Given the description of an element on the screen output the (x, y) to click on. 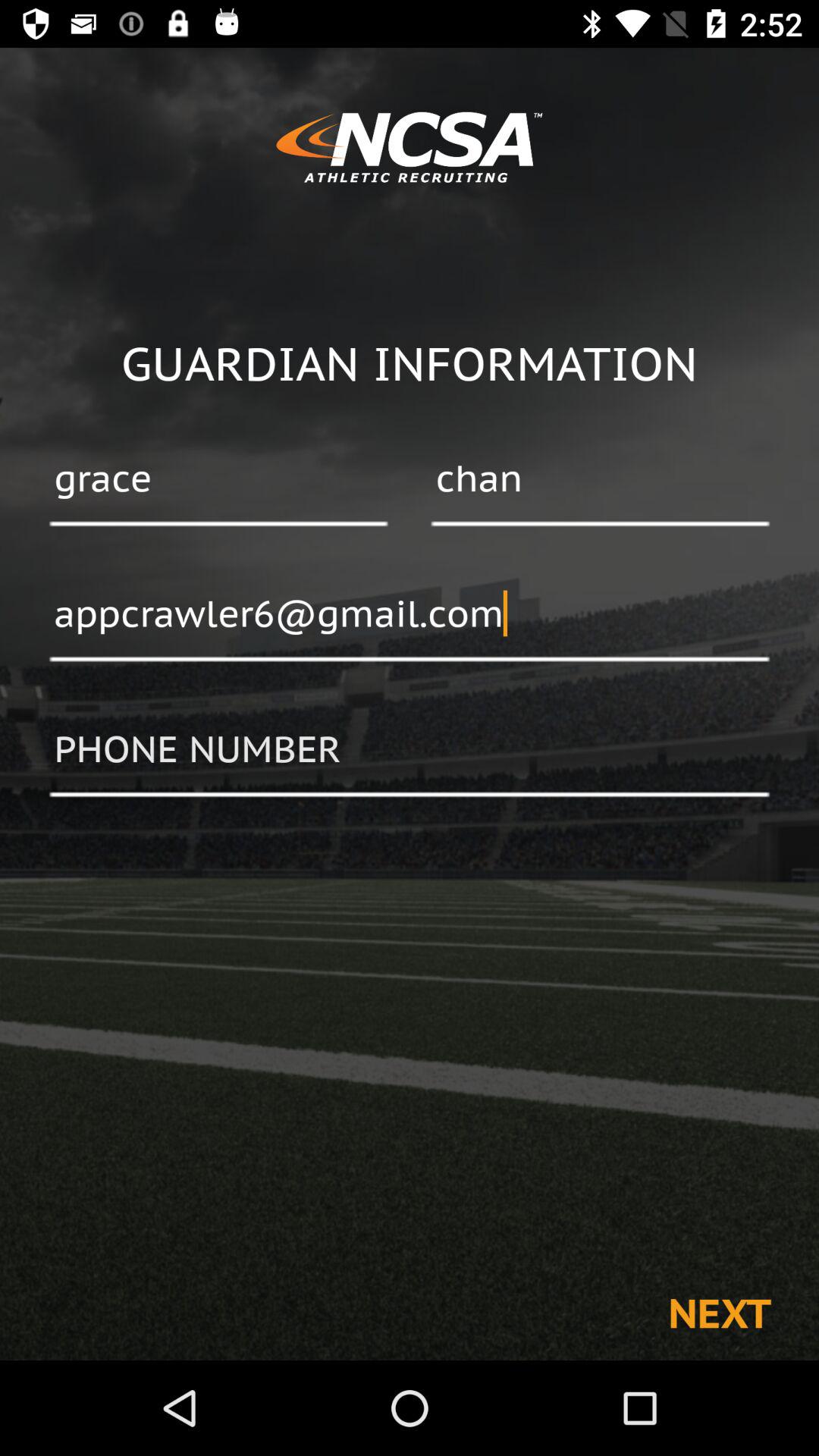
turn off the item next to grace (600, 479)
